Given the description of an element on the screen output the (x, y) to click on. 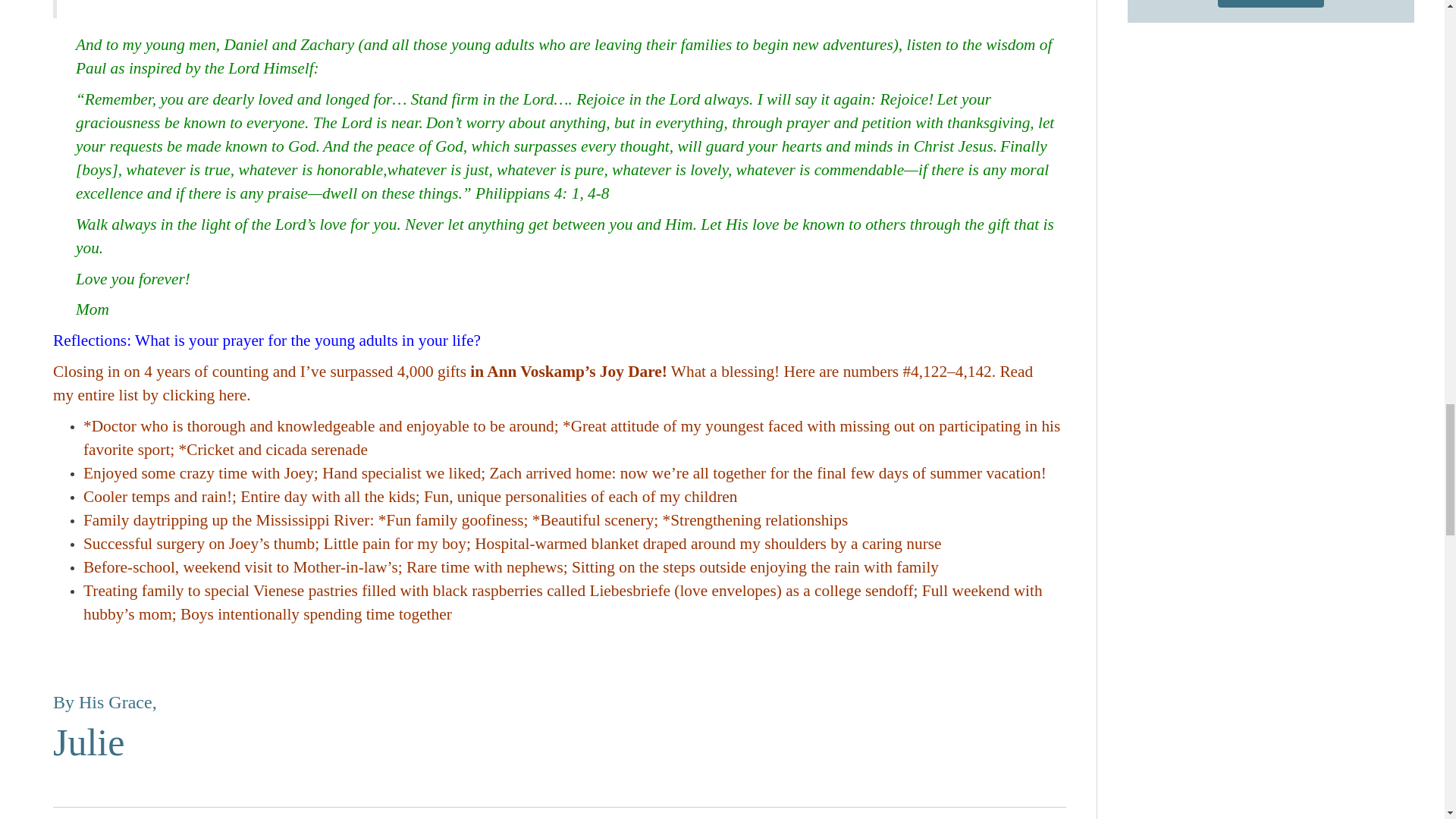
Joy Dare (576, 371)
clicking here (205, 394)
